Given the description of an element on the screen output the (x, y) to click on. 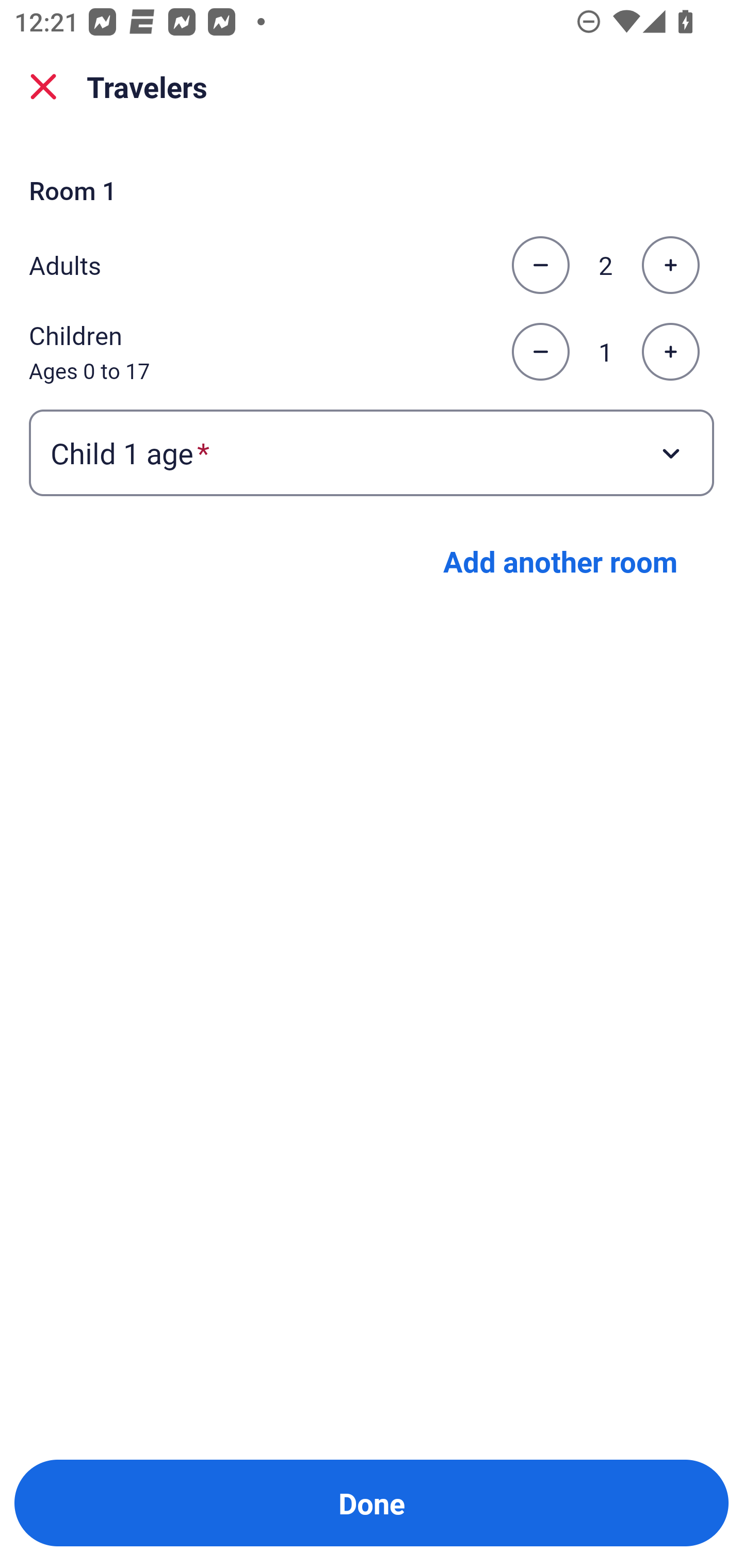
close (43, 86)
Decrease the number of adults (540, 264)
Increase the number of adults (670, 264)
Decrease the number of children (540, 351)
Increase the number of children (670, 351)
Child 1 age required Button (371, 452)
Add another room (560, 561)
Done (371, 1502)
